Given the description of an element on the screen output the (x, y) to click on. 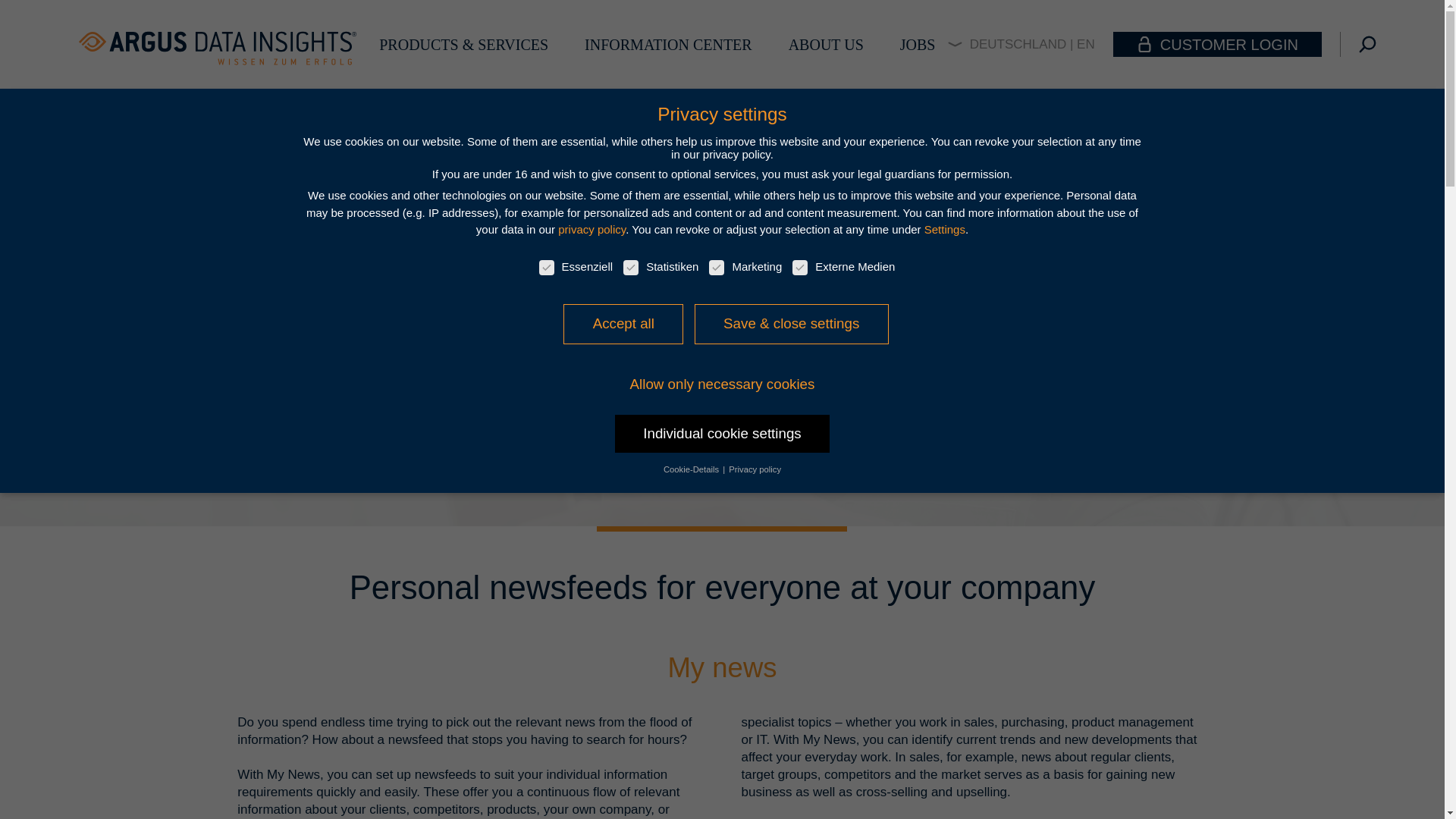
CUSTOMER LOGIN (1217, 43)
JOBS (917, 43)
Back (269, 311)
